Given the description of an element on the screen output the (x, y) to click on. 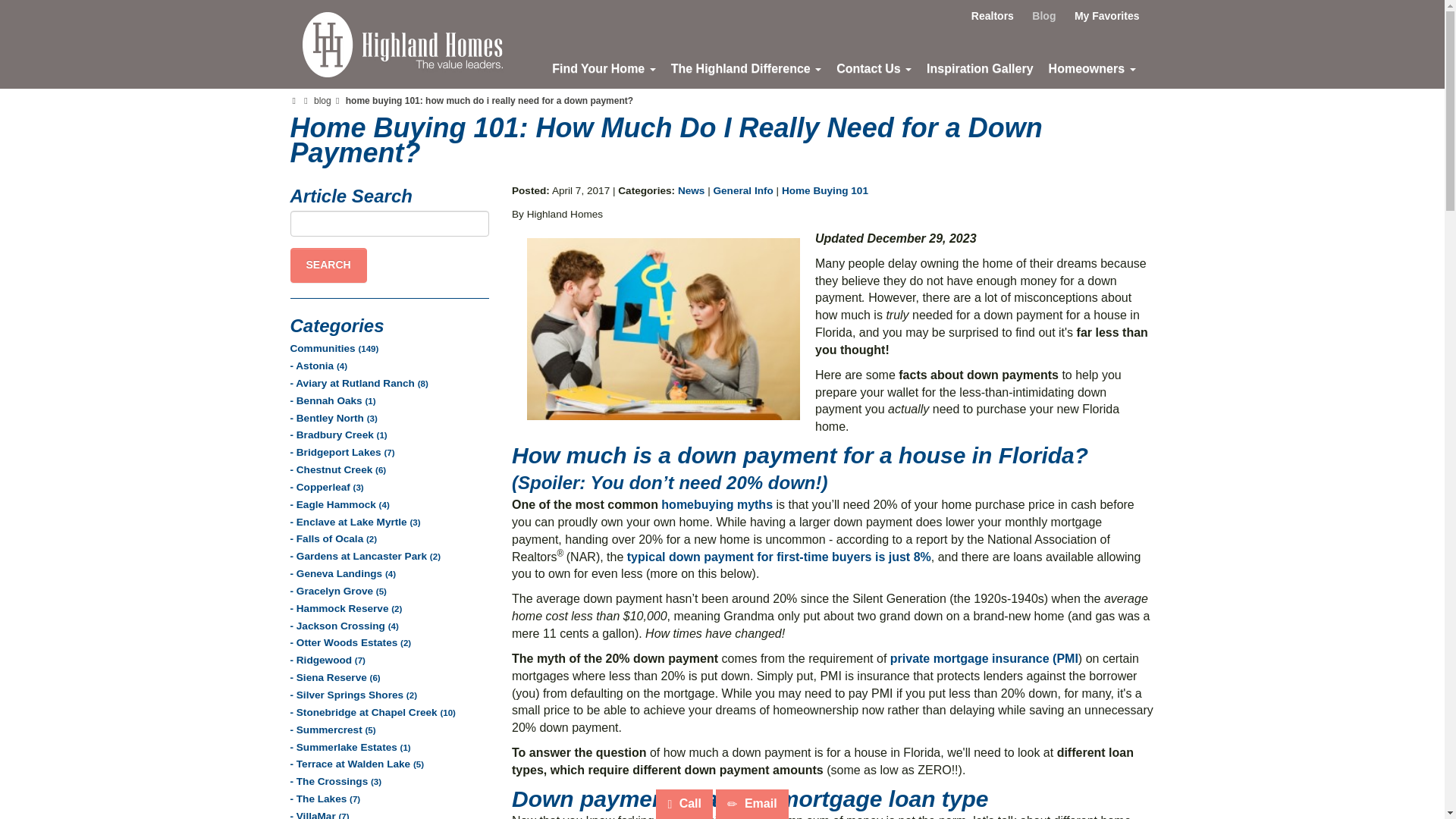
Search (327, 265)
Blog (1043, 15)
My Favorites (1107, 15)
Realtors (992, 15)
Find Your Home (603, 68)
Highland Homes (402, 44)
